Given the description of an element on the screen output the (x, y) to click on. 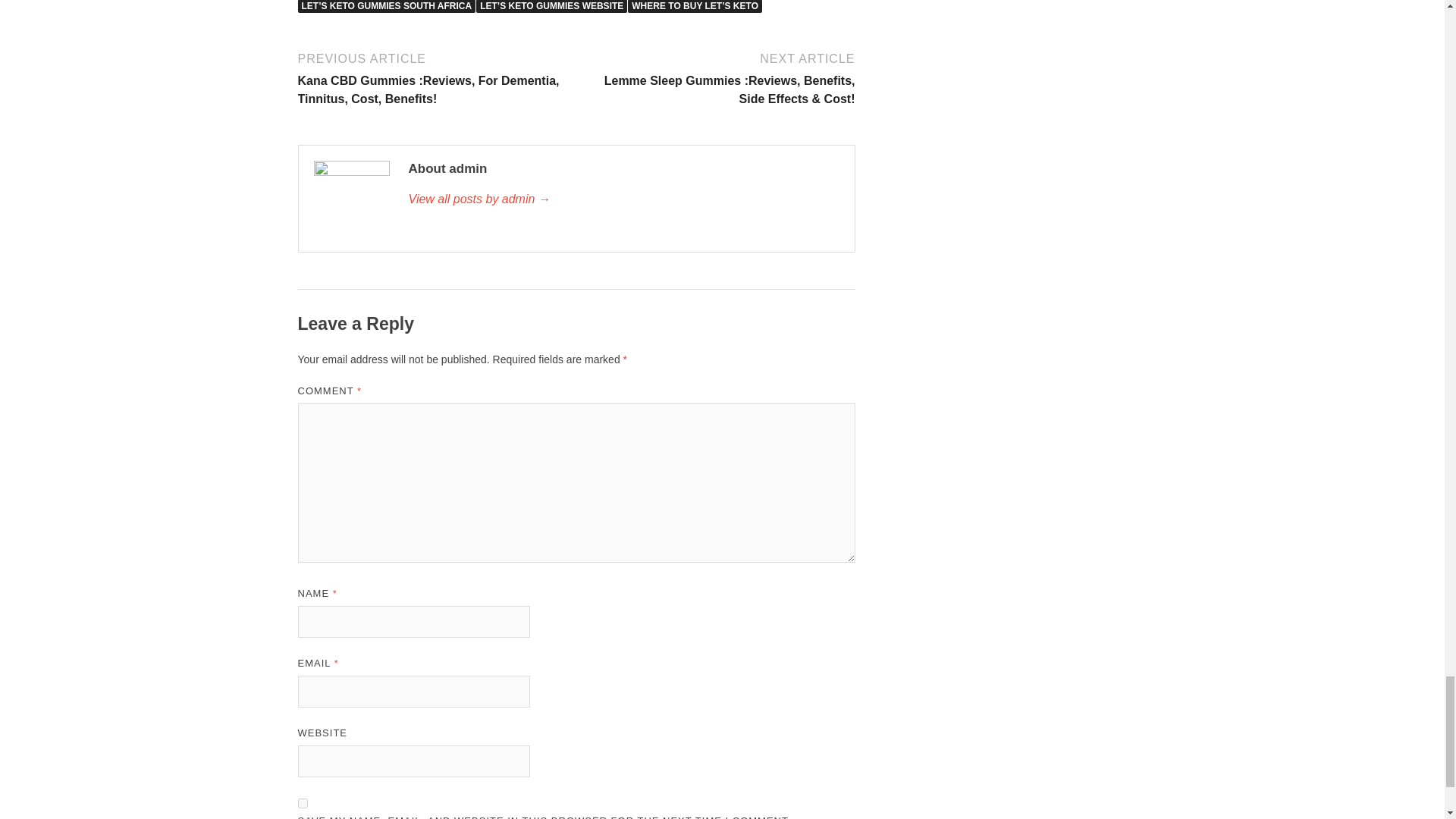
yes (302, 803)
admin (622, 199)
